Given the description of an element on the screen output the (x, y) to click on. 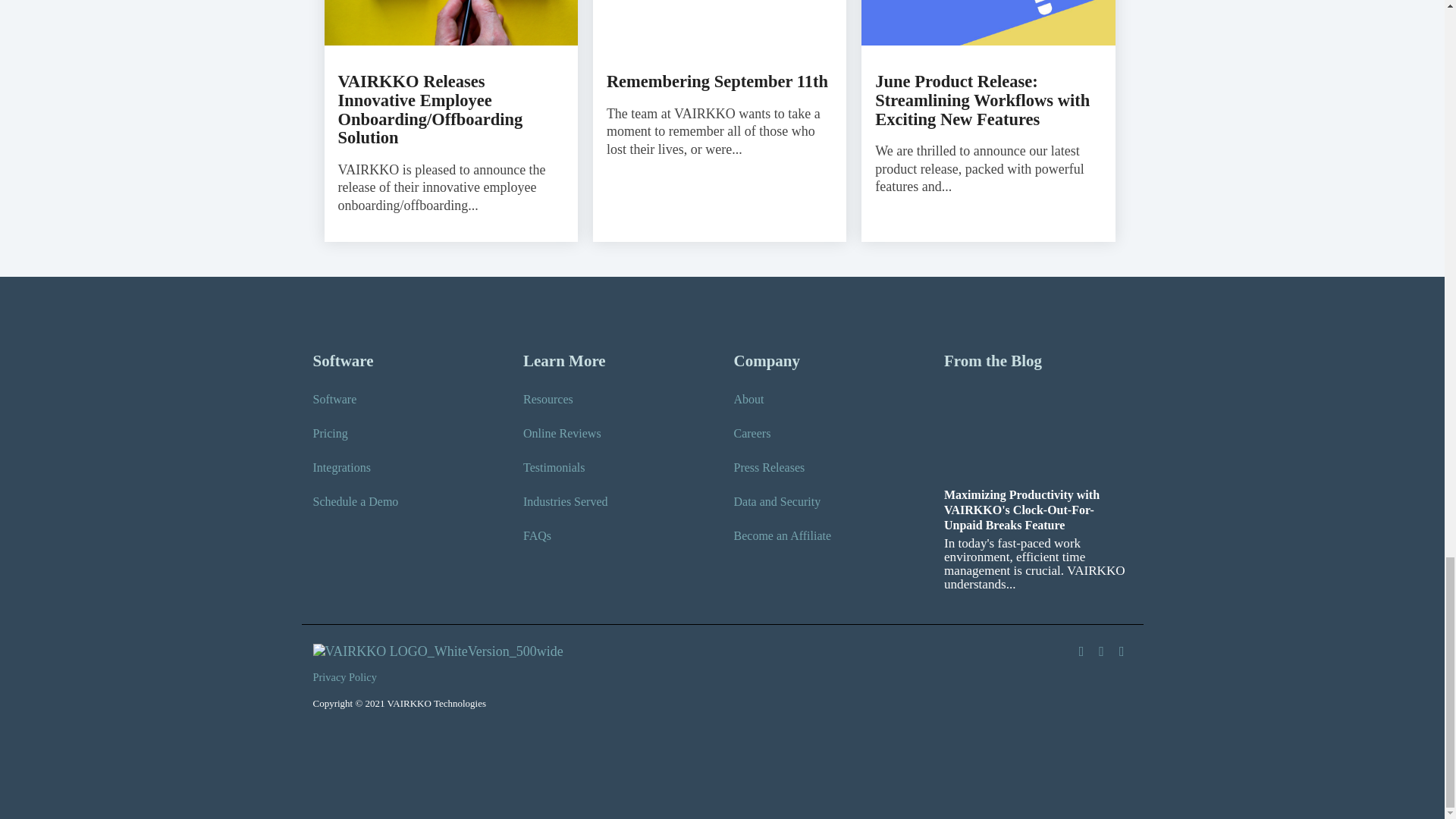
Integrations (341, 467)
FAQs (536, 535)
Resources (547, 399)
Testimonials (553, 467)
Press Releases (769, 467)
Industries Served (565, 501)
Schedule a Demo (355, 501)
Privacy Policy (348, 677)
Software (334, 399)
Careers (752, 433)
Online Reviews (561, 433)
Become an Affiliate (782, 535)
About (748, 399)
